Given the description of an element on the screen output the (x, y) to click on. 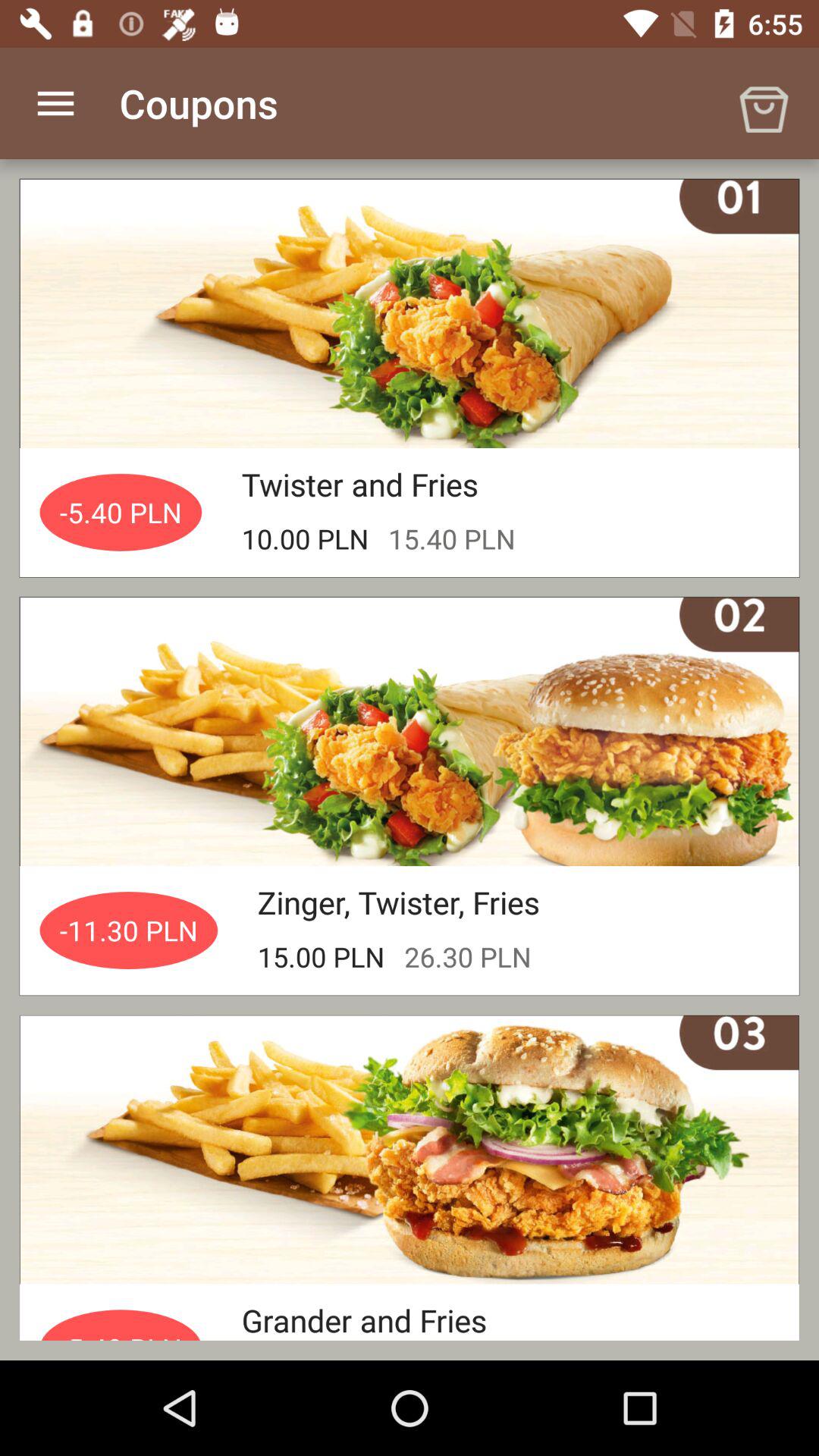
open the icon to the right of the coupons icon (763, 103)
